Given the description of an element on the screen output the (x, y) to click on. 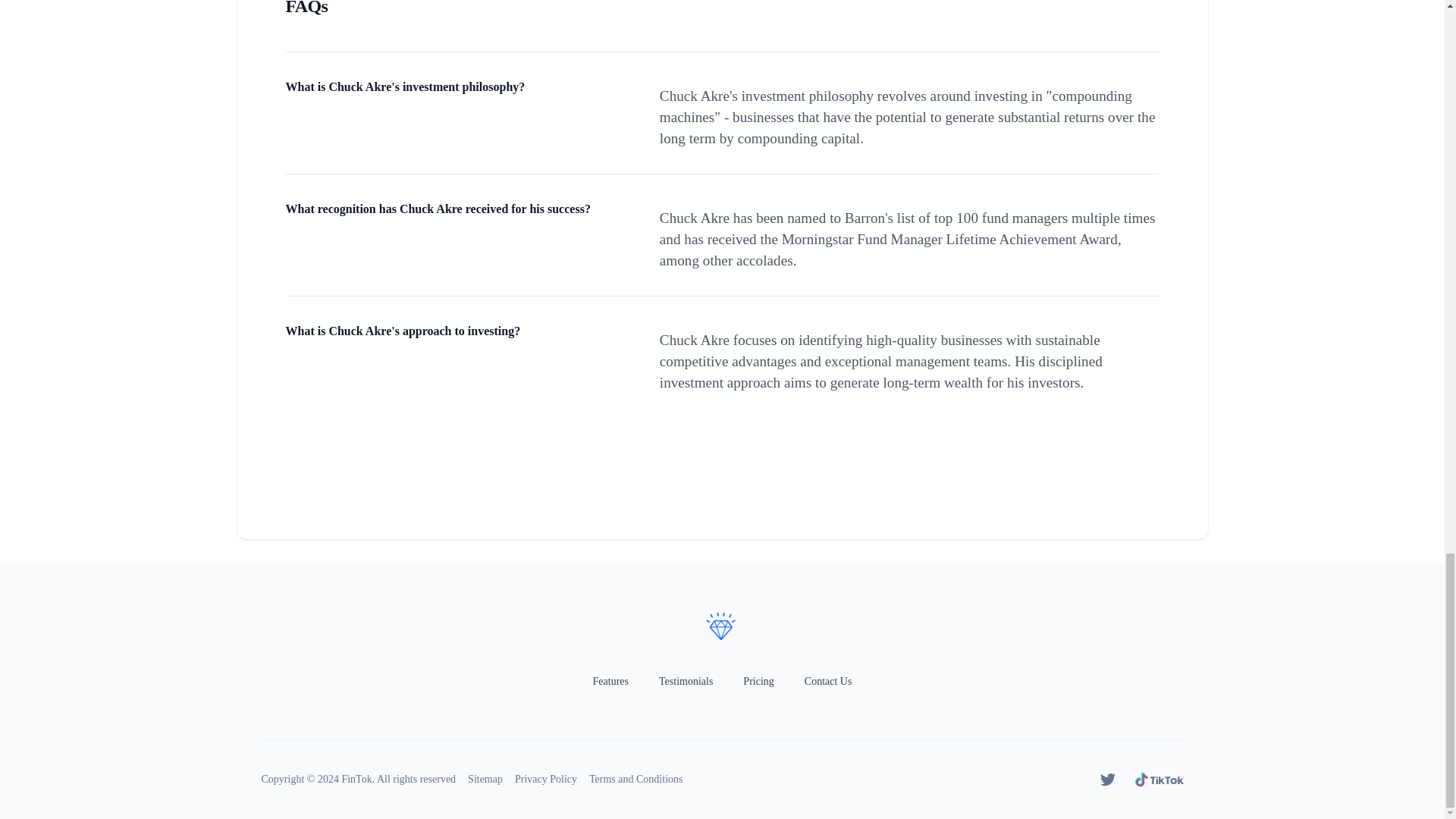
Testimonials (685, 681)
Contact Us (828, 681)
Sitemap (484, 779)
Pricing (757, 681)
Privacy Policy (545, 779)
Features (610, 681)
Terms and Conditions (635, 779)
